Given the description of an element on the screen output the (x, y) to click on. 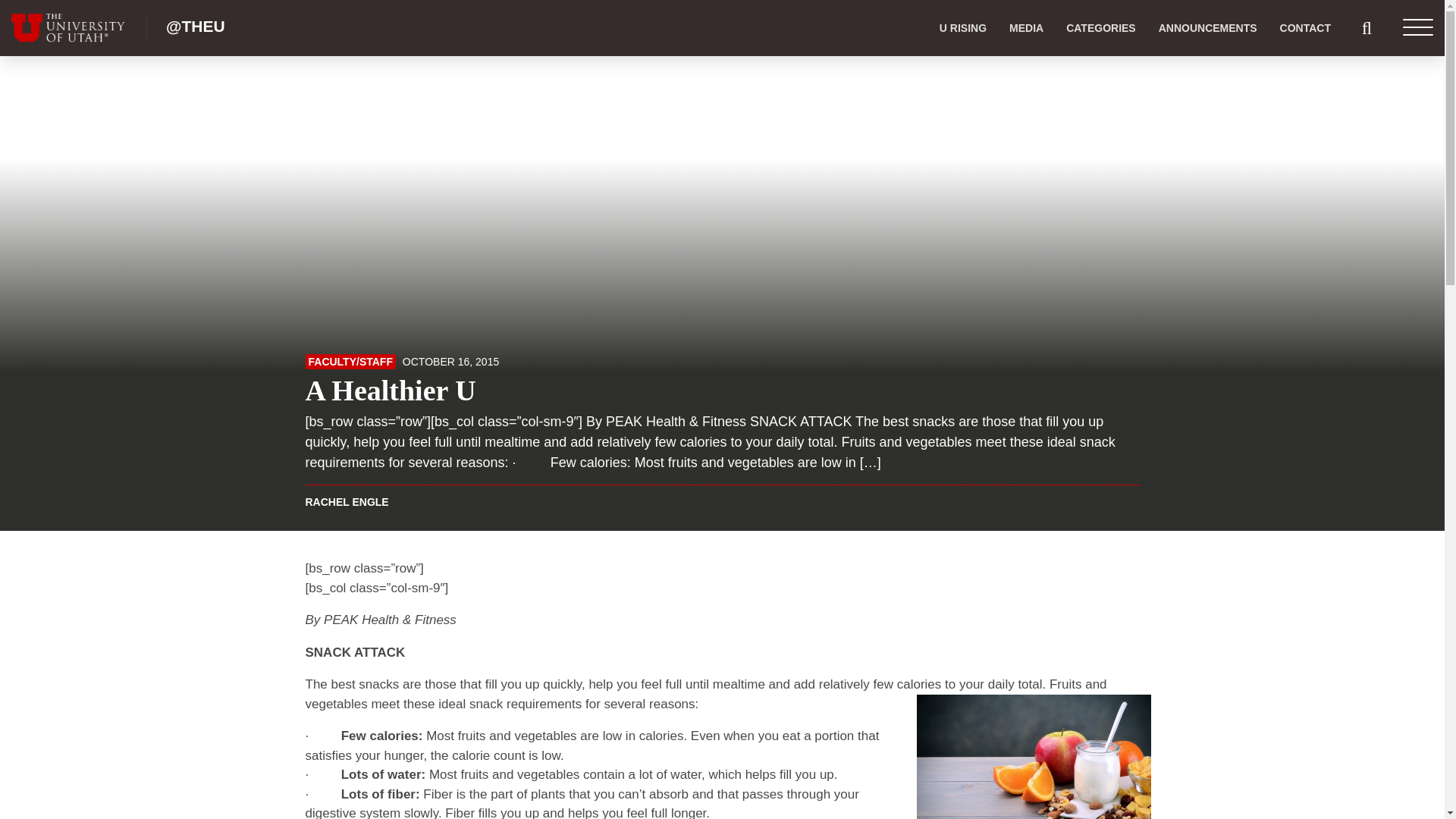
MEDIA (1025, 28)
U RISING (962, 28)
CATEGORIES (1100, 28)
